Given the description of an element on the screen output the (x, y) to click on. 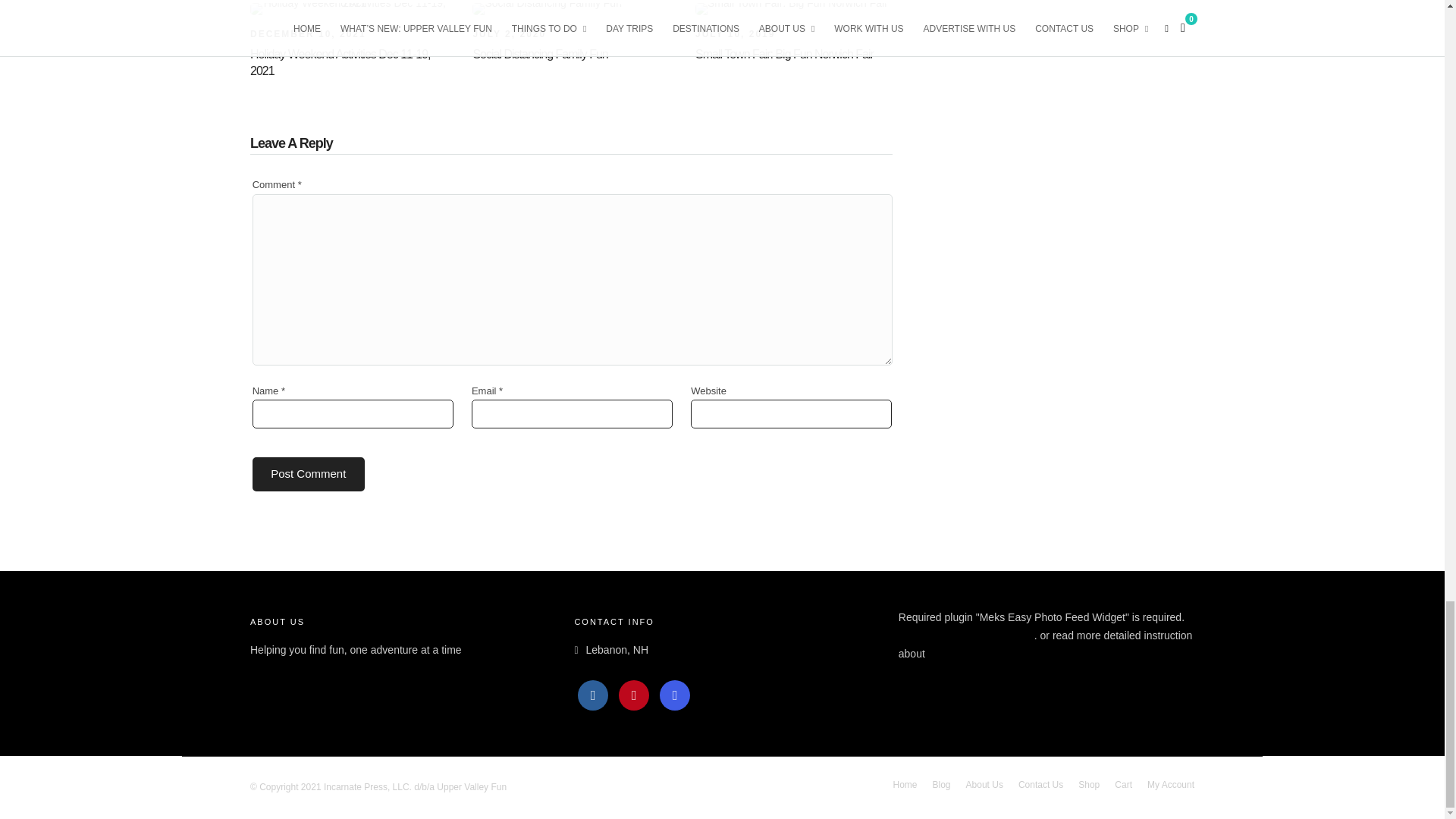
Holiday Weekend Activities Dec 11-19, 2021 (340, 61)
Holiday Weekend Activities Dec 11-19, 2021 (308, 33)
Social Distancing Family Fun (539, 53)
Post Comment (308, 474)
Social Distancing Family Fun (508, 33)
